Given the description of an element on the screen output the (x, y) to click on. 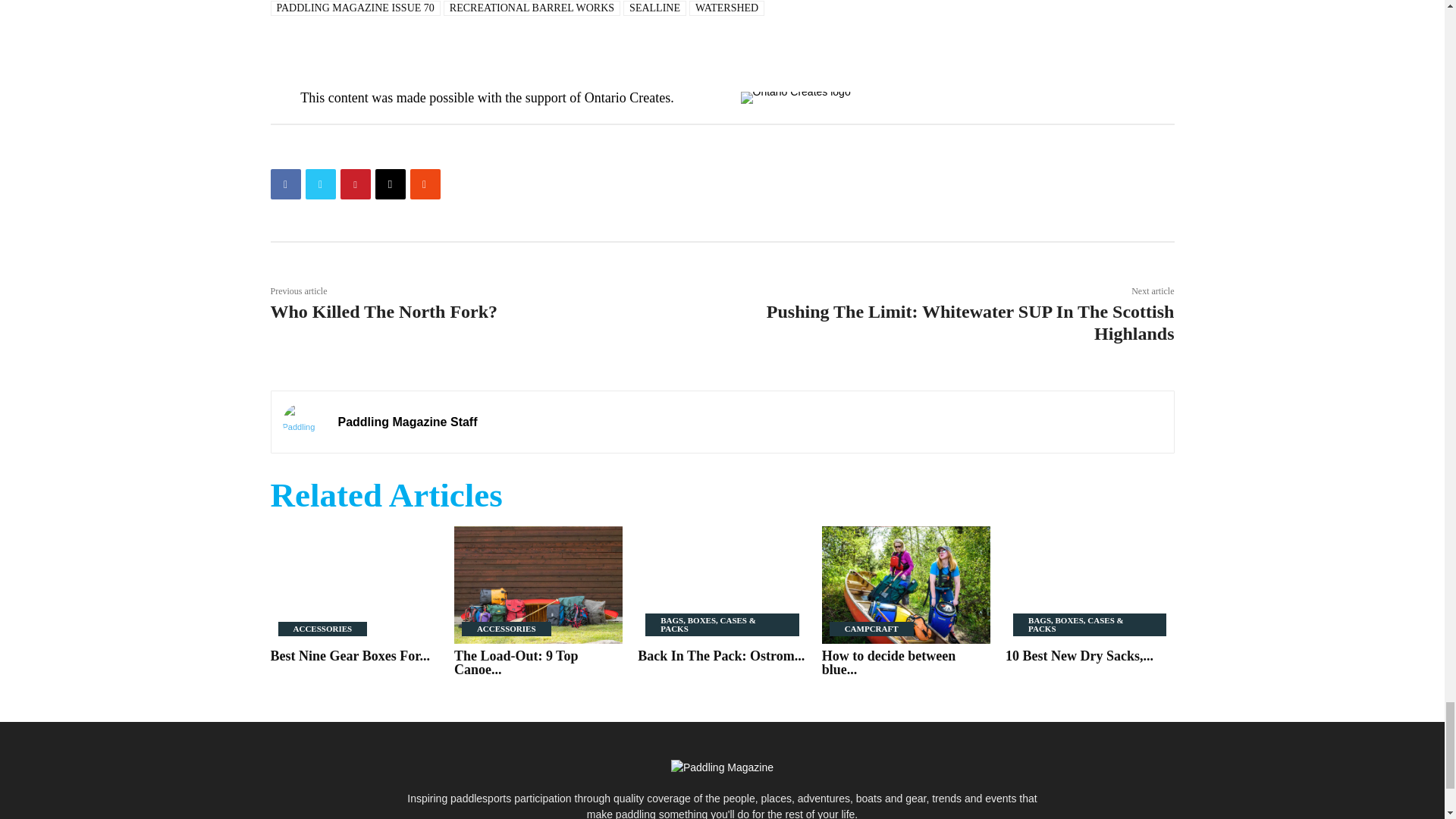
Pinterest (354, 183)
Ontario-Creates-Logo-1 (794, 97)
Twitter (319, 183)
Facebook (284, 183)
Email (389, 183)
Mix (424, 183)
